Given the description of an element on the screen output the (x, y) to click on. 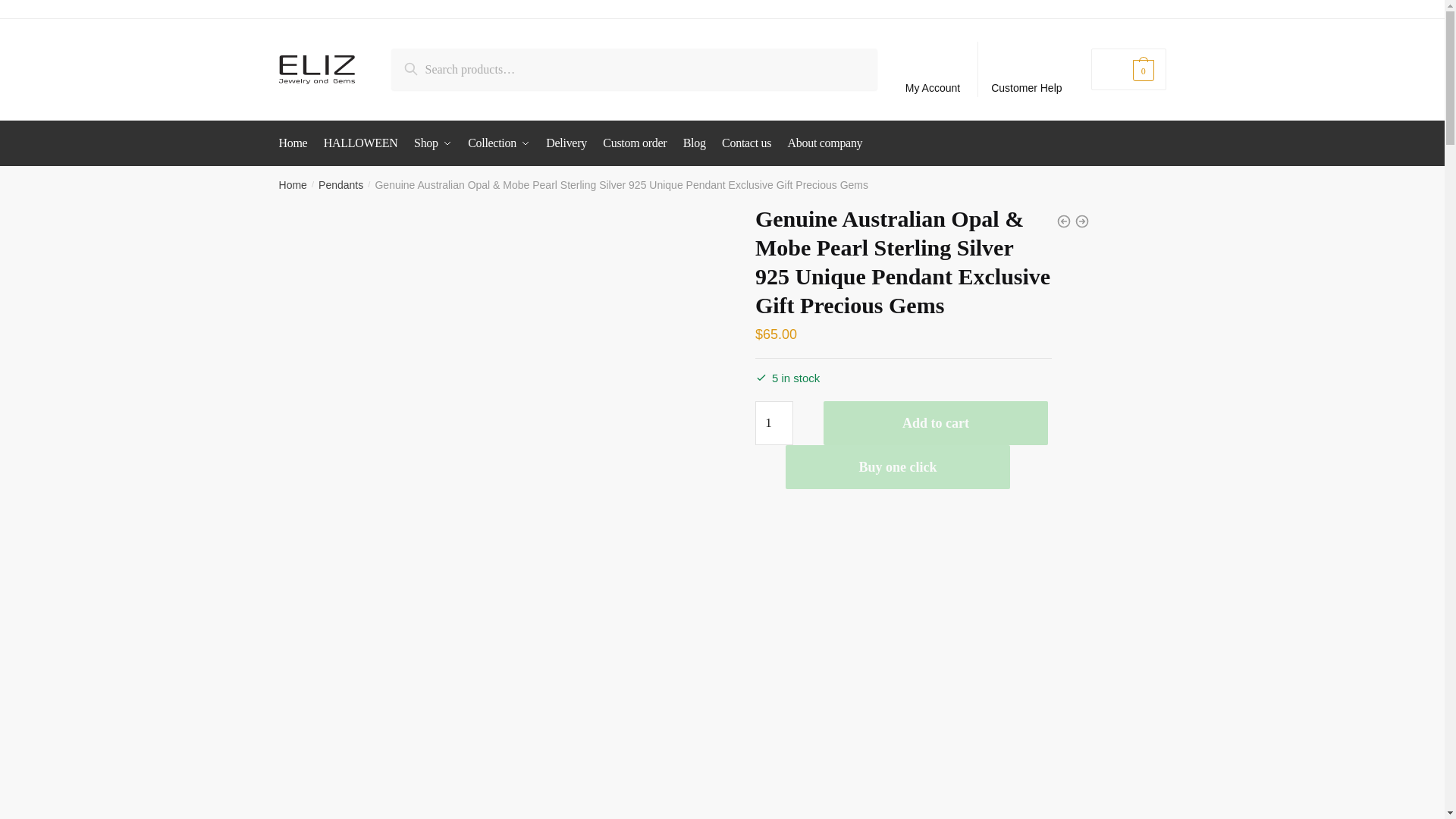
Custom order (634, 143)
My Account (932, 69)
Delivery (566, 143)
Collection (498, 143)
HALLOWEEN (360, 143)
Customer Help (1026, 69)
